Given the description of an element on the screen output the (x, y) to click on. 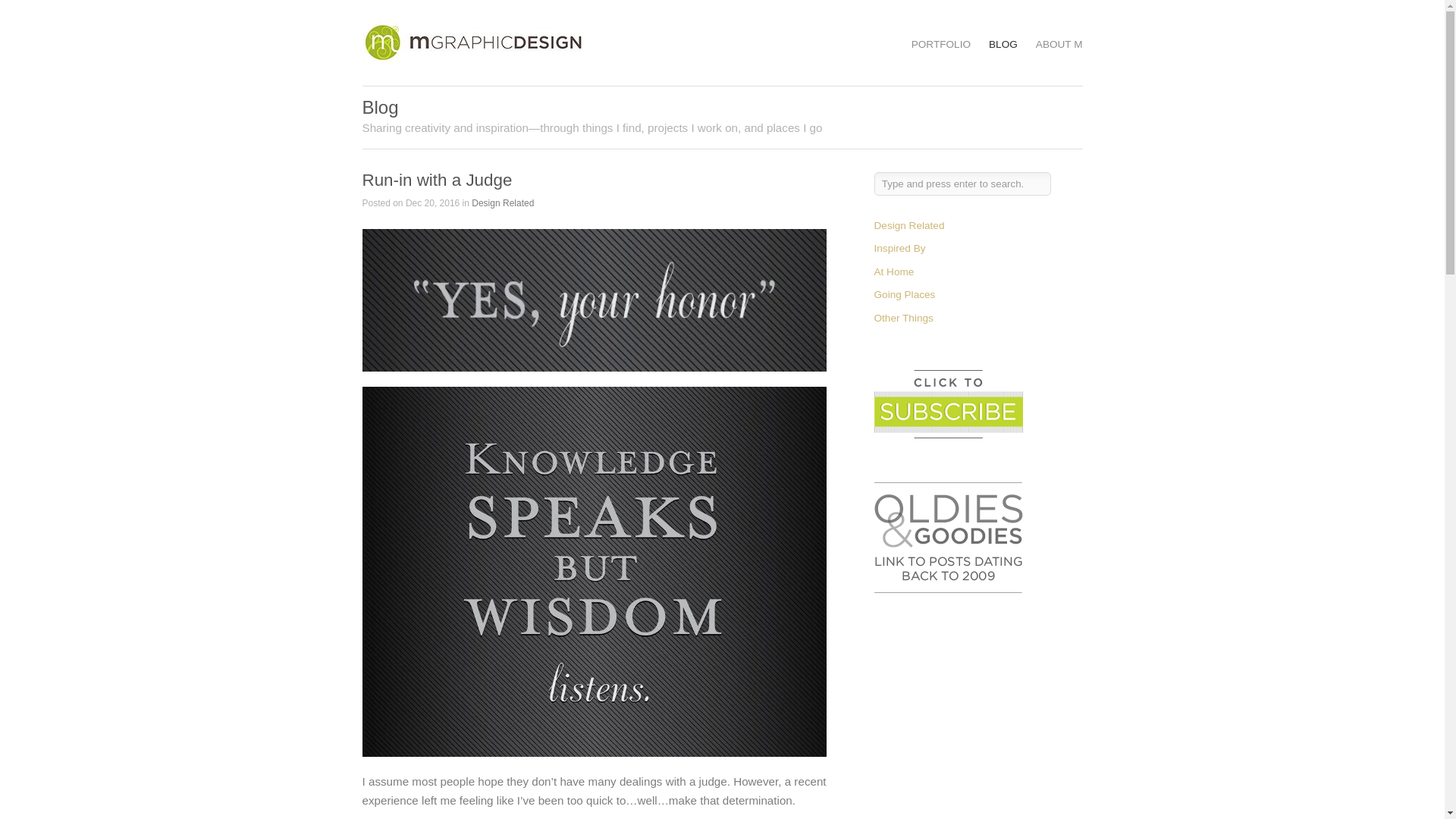
Inspired By (898, 247)
BLOG (1002, 44)
Design Related (908, 225)
Run-in with a Judge (437, 179)
PORTFOLIO (941, 44)
Going Places (903, 294)
Other Things (903, 317)
Run-in with a Judge (594, 300)
ABOUT M (1059, 44)
At Home (893, 271)
Type and press enter to search. (962, 183)
Design Related (502, 203)
